Given the description of an element on the screen output the (x, y) to click on. 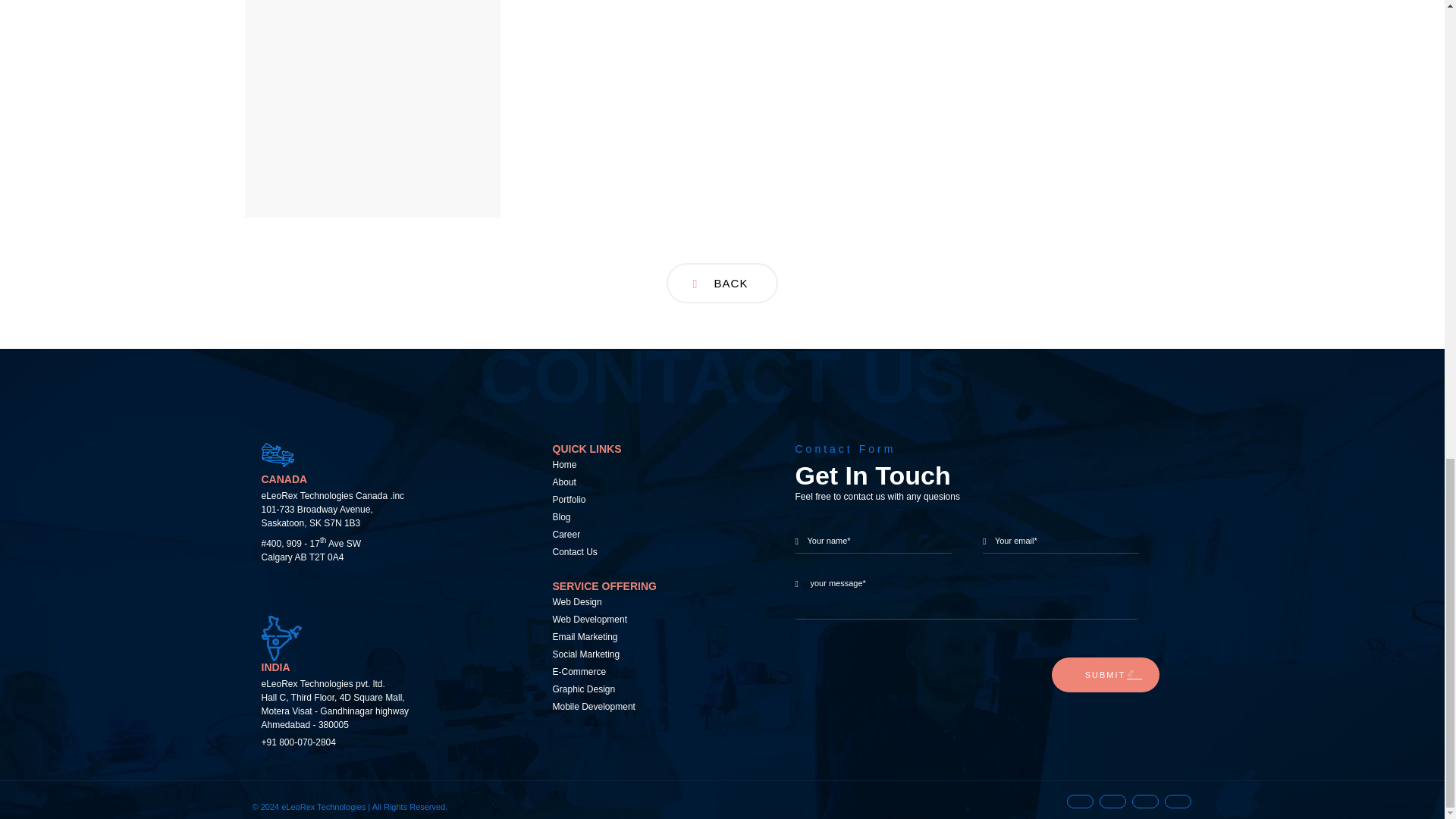
Email Marketing (648, 637)
E-Commerce (648, 671)
Graphic Design (648, 689)
Mobile Development (648, 706)
Web Design (648, 601)
About (648, 482)
BACK (722, 282)
Web Development (648, 619)
Portfolio (648, 499)
Blog (648, 517)
Home (648, 465)
submit (1104, 674)
Career (648, 534)
Social Marketing (648, 654)
Contact Us (648, 552)
